Given the description of an element on the screen output the (x, y) to click on. 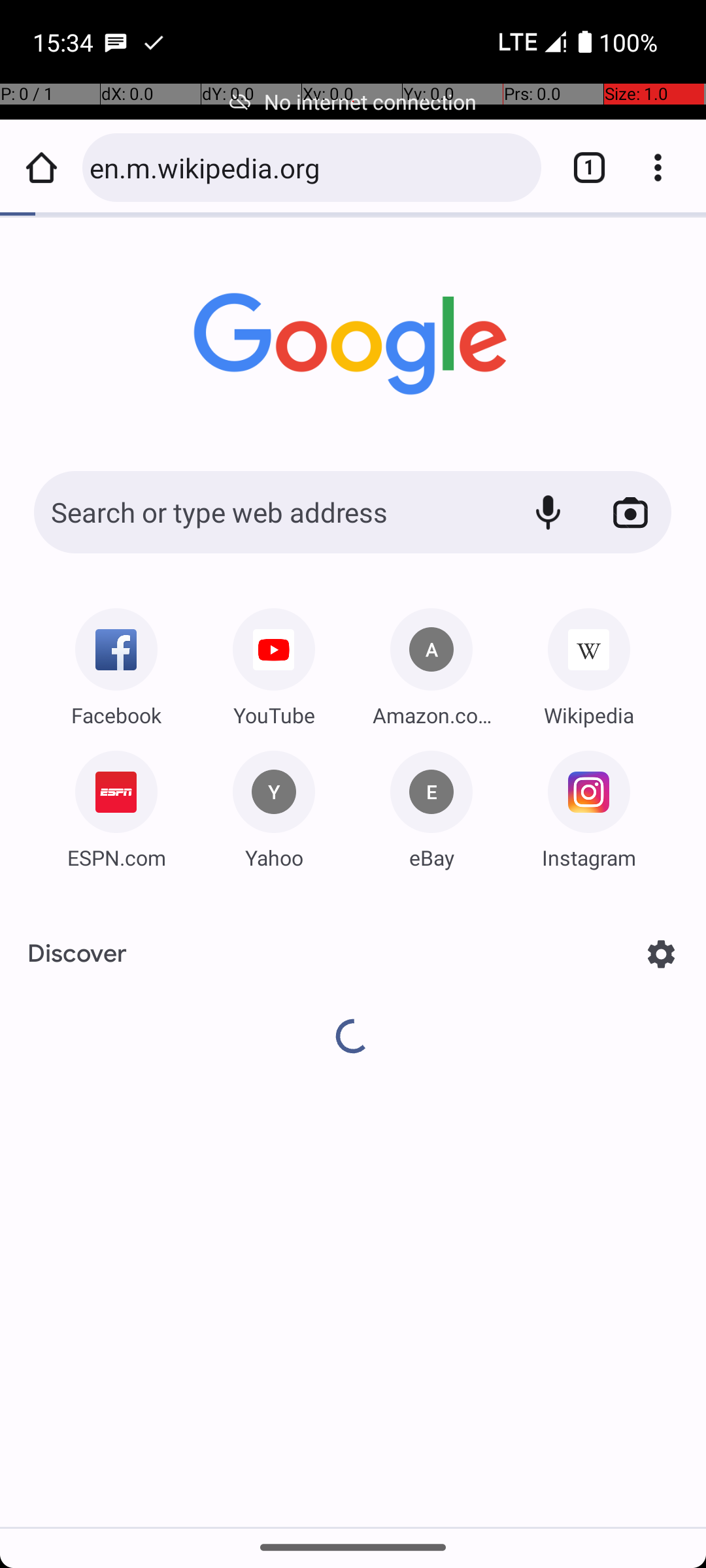
en.m.wikipedia.org Element type: android.widget.EditText (308, 167)
Search or type web address Element type: android.widget.EditText (267, 512)
Search with your camera using Google Lens Element type: android.widget.ImageView (629, 512)
Navigate: Facebook: m.facebook.com Element type: android.widget.FrameLayout (115, 662)
Navigate: YouTube: m.youtube.com Element type: android.widget.FrameLayout (273, 662)
Navigate: Amazon.com: www.amazon.com Element type: android.widget.FrameLayout (431, 662)
Navigate: Wikipedia: en.m.wikipedia.org Element type: android.widget.FrameLayout (588, 662)
Navigate: ESPN.com: www.espn.com Element type: android.widget.FrameLayout (115, 804)
Navigate: Yahoo: www.yahoo.com Element type: android.widget.FrameLayout (273, 804)
Navigate: eBay: m.ebay.com Element type: android.widget.FrameLayout (431, 804)
Navigate: Instagram: www.instagram.com Element type: android.widget.FrameLayout (588, 804)
Options for Discover Element type: android.widget.ImageButton (660, 953)
Amazon.com Element type: android.widget.TextView (430, 715)
ESPN.com Element type: android.widget.TextView (115, 857)
Yahoo Element type: android.widget.TextView (273, 857)
eBay Element type: android.widget.TextView (430, 857)
Instagram Element type: android.widget.TextView (588, 857)
SMS Messenger notification: Daniel Ali Element type: android.widget.ImageView (115, 41)
Contacts notification: Finished exporting contacts.vcf. Element type: android.widget.ImageView (153, 41)
